Given the description of an element on the screen output the (x, y) to click on. 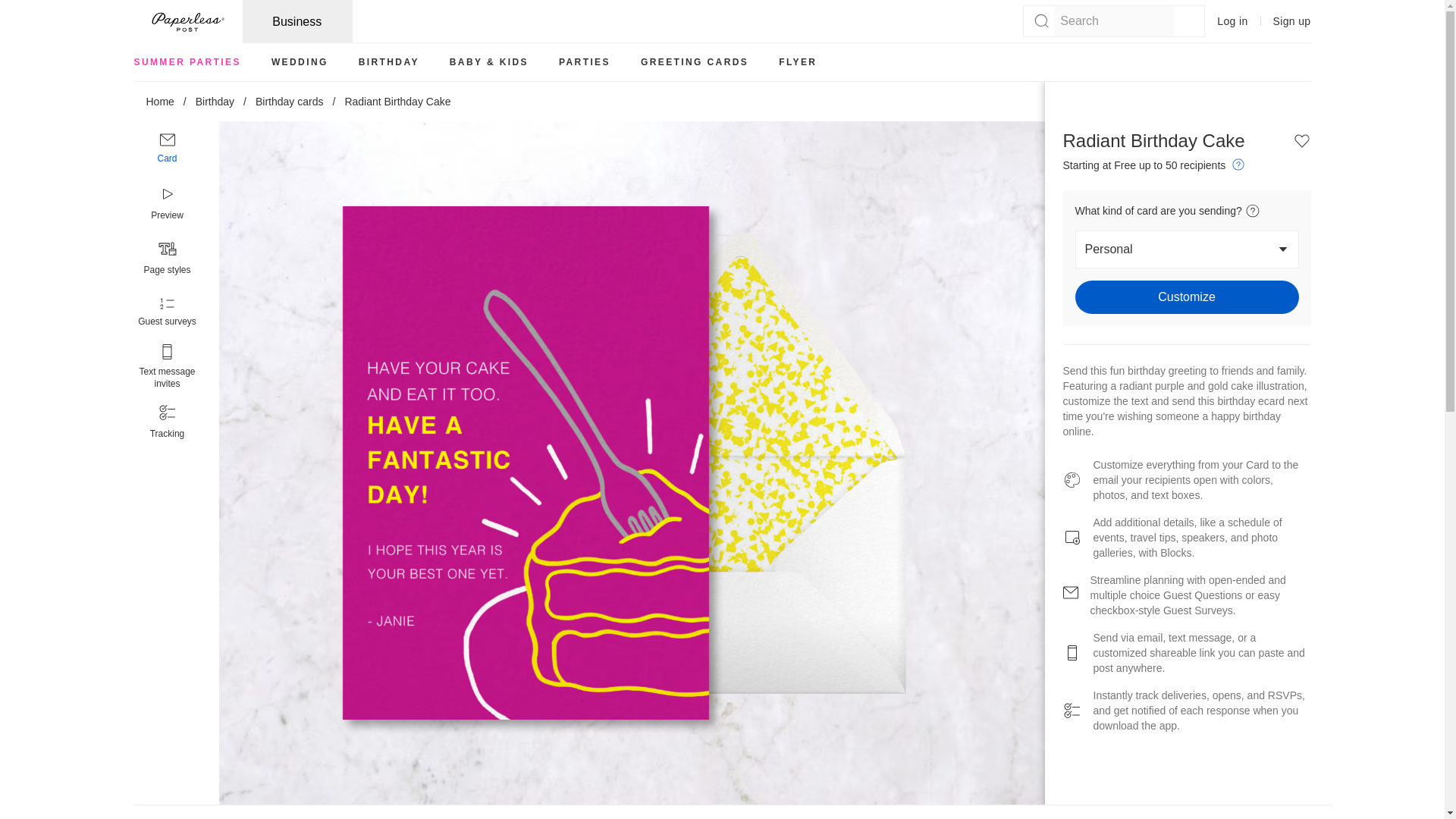
question icon (1237, 164)
Sign up (1291, 20)
Business (297, 21)
Log in (1232, 20)
WEDDING (299, 63)
Skip to content (17, 5)
SUMMER PARTIES (186, 63)
